Given the description of an element on the screen output the (x, y) to click on. 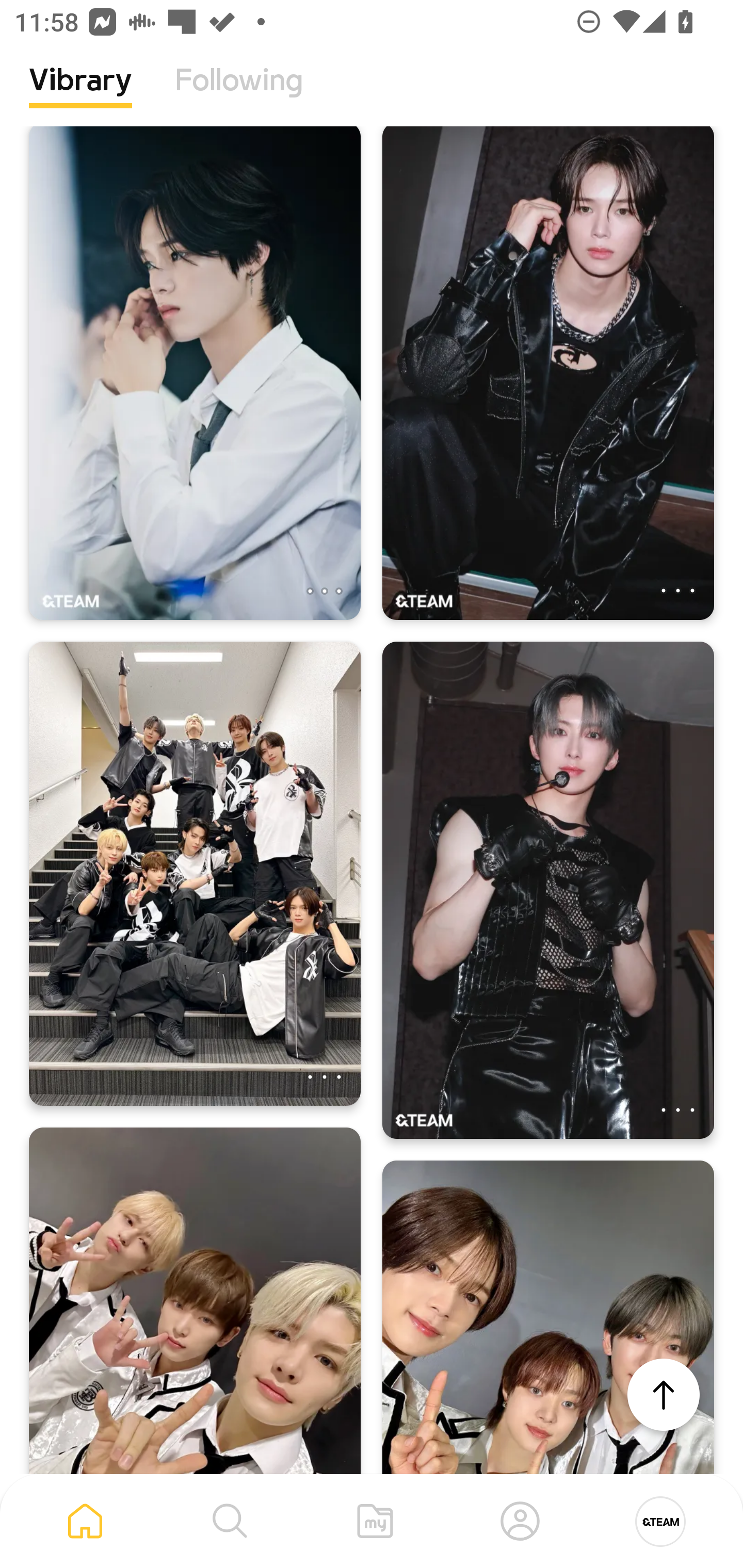
Vibrary (80, 95)
Following (239, 95)
